Given the description of an element on the screen output the (x, y) to click on. 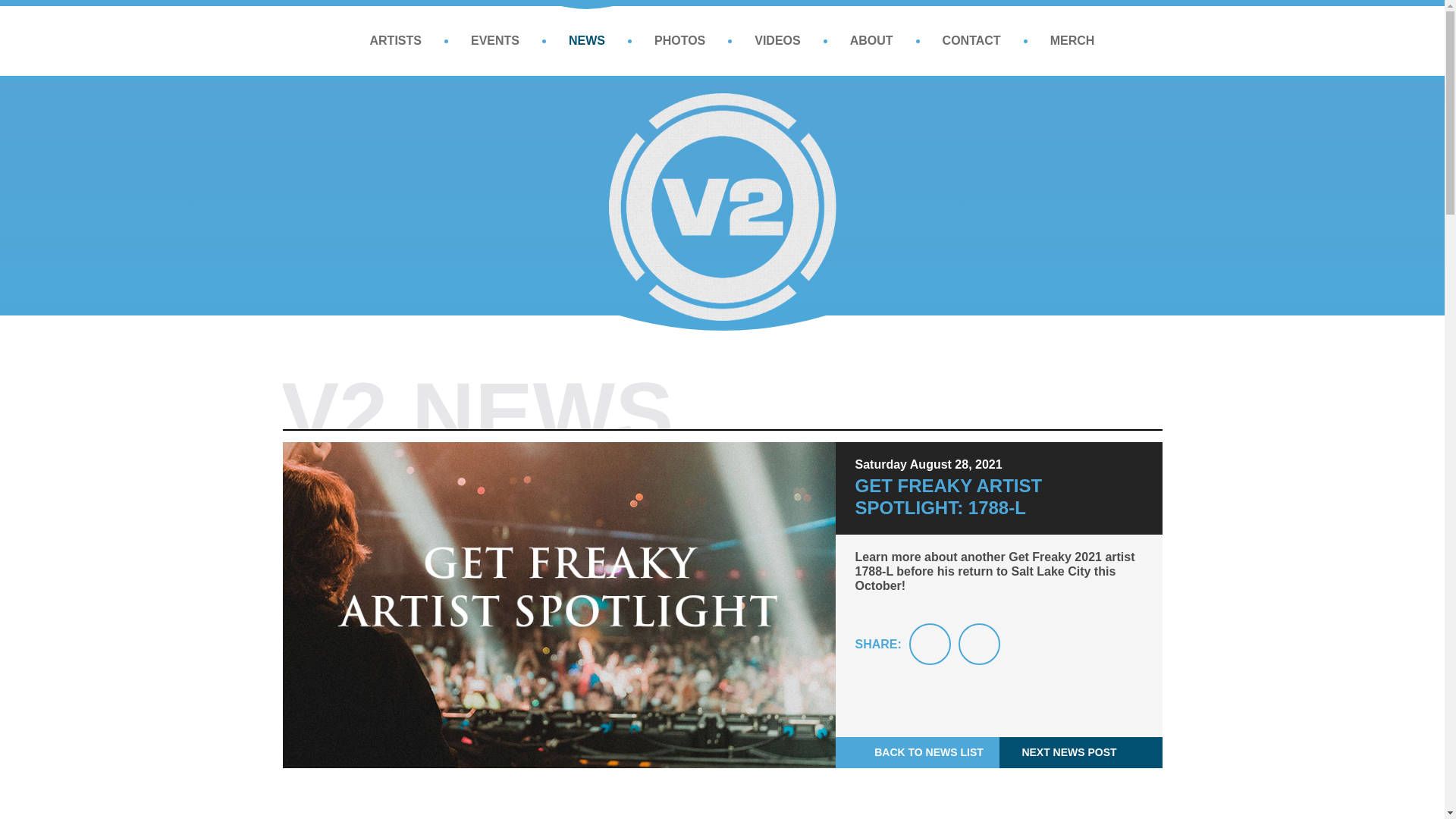
EVENTS (494, 40)
NEXT NEWS POST (1079, 752)
MERCH (1071, 40)
PHOTOS (678, 40)
ARTISTS (395, 40)
CONTACT (971, 40)
BACK TO NEWS LIST (916, 752)
ABOUT (871, 40)
VIDEOS (776, 40)
NEWS (587, 40)
